Given the description of an element on the screen output the (x, y) to click on. 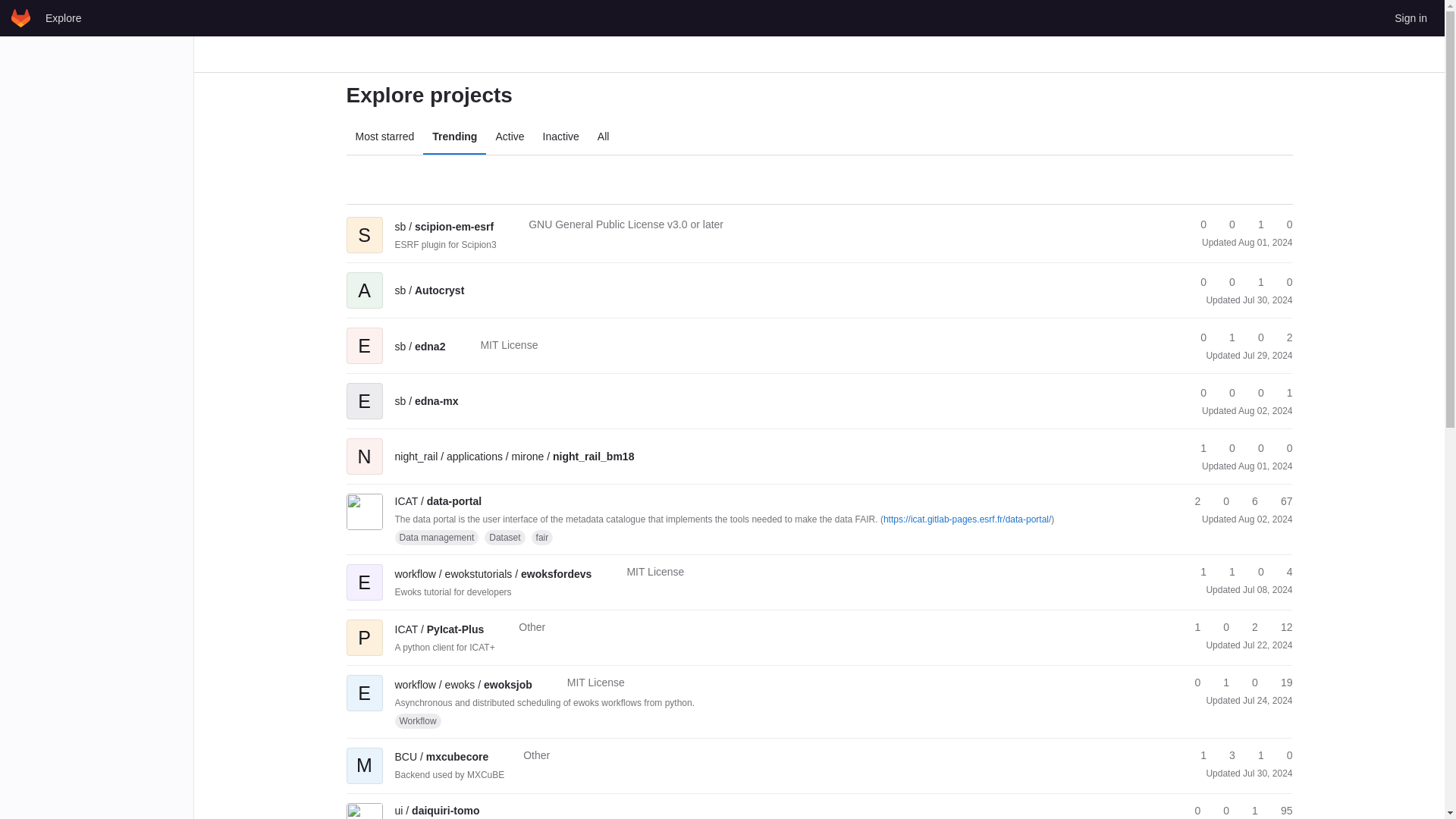
0 (1224, 224)
Explore (63, 17)
Merge requests (1253, 224)
0 (1253, 337)
scipion-em-esrf (443, 226)
Jul 30, 2024 11:12am (1267, 299)
Inactive (561, 135)
Forks (1224, 224)
0 (1224, 392)
0 (1196, 337)
0 (1196, 282)
1 (1253, 282)
E (363, 390)
0 (1196, 224)
0 (1196, 392)
